Given the description of an element on the screen output the (x, y) to click on. 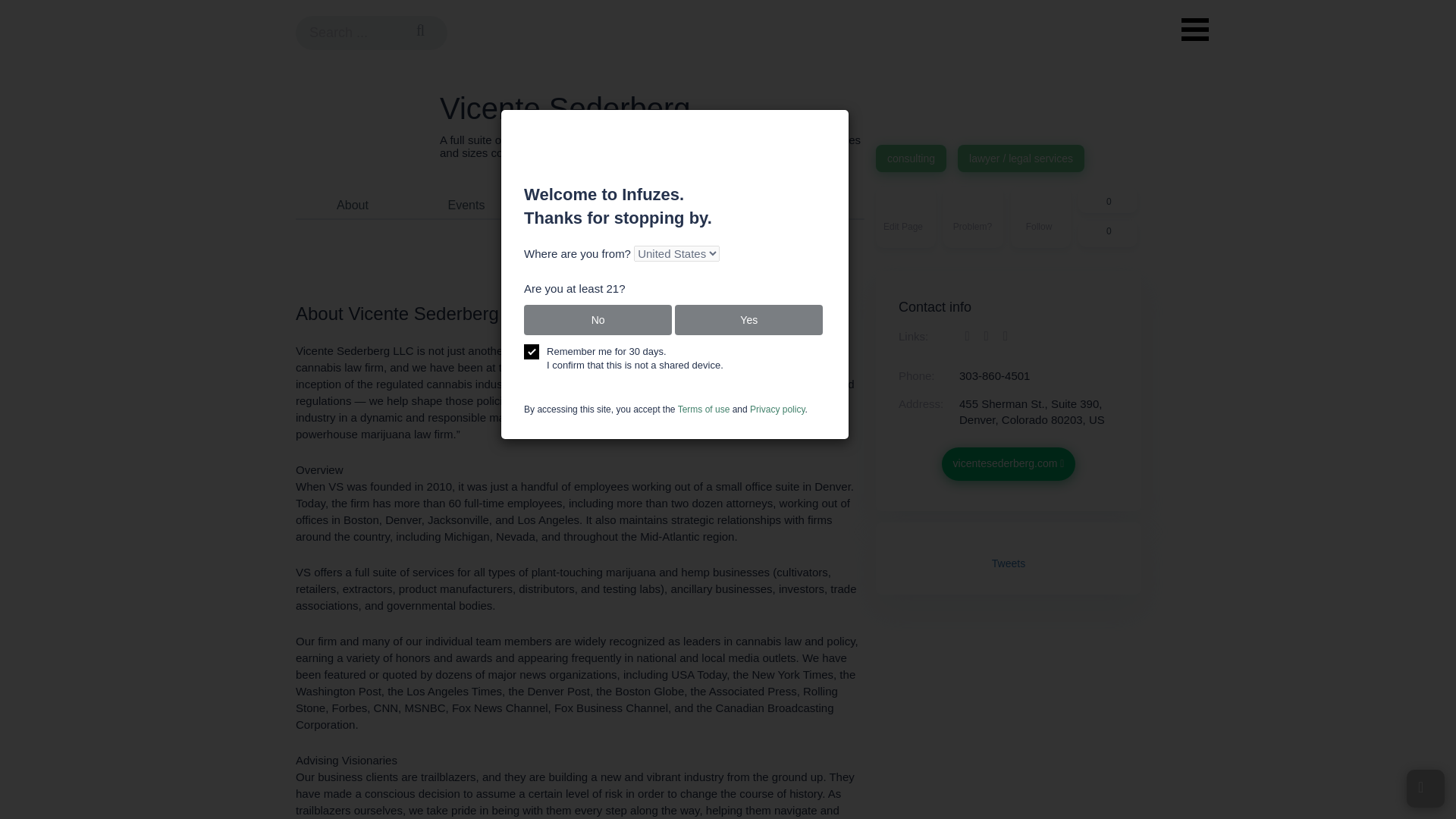
Edit information (906, 217)
About (352, 205)
0 (1107, 233)
Team (580, 205)
Team (580, 205)
Edit Page (906, 217)
0 (1107, 199)
Events (1040, 217)
About (466, 205)
Problem? (352, 205)
Team (973, 217)
About (580, 205)
Comments (352, 205)
